Given the description of an element on the screen output the (x, y) to click on. 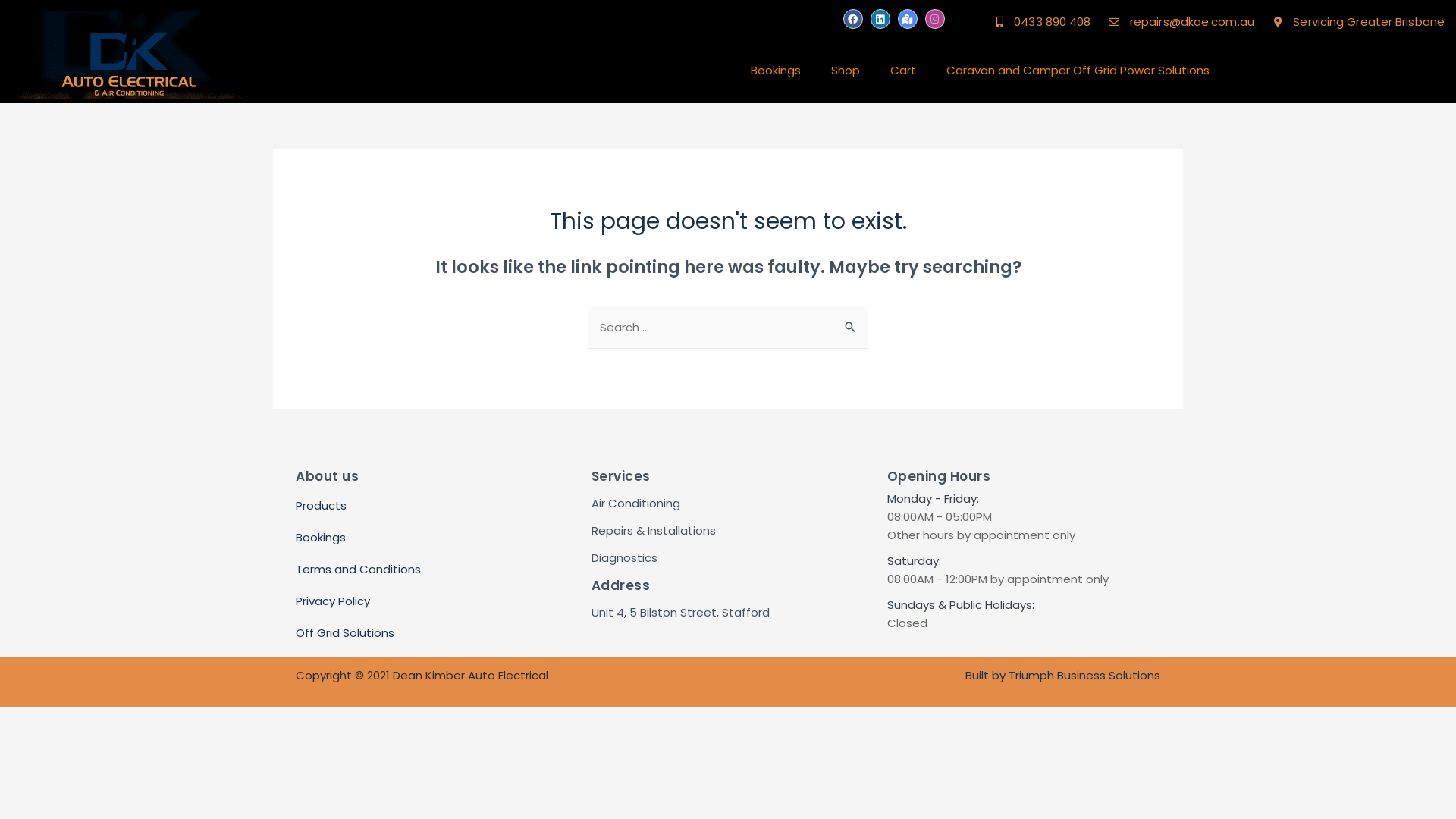
Cart Element type: text (903, 70)
Products Element type: text (431, 505)
0433 890 408 Element type: text (1040, 21)
Servicing Greater Brisbane Element type: text (1356, 21)
Bookings Element type: text (775, 70)
Terms and Conditions Element type: text (431, 569)
Shop Element type: text (845, 70)
Off Grid Solutions Element type: text (431, 633)
Caravan and Camper Off Grid Power Solutions Element type: text (1077, 70)
Bookings Element type: text (431, 537)
repairs@dkae.com.au Element type: text (1179, 21)
Search Element type: text (851, 320)
Built by Triumph Business Solutions Element type: text (1062, 675)
Privacy Policy Element type: text (431, 601)
